Given the description of an element on the screen output the (x, y) to click on. 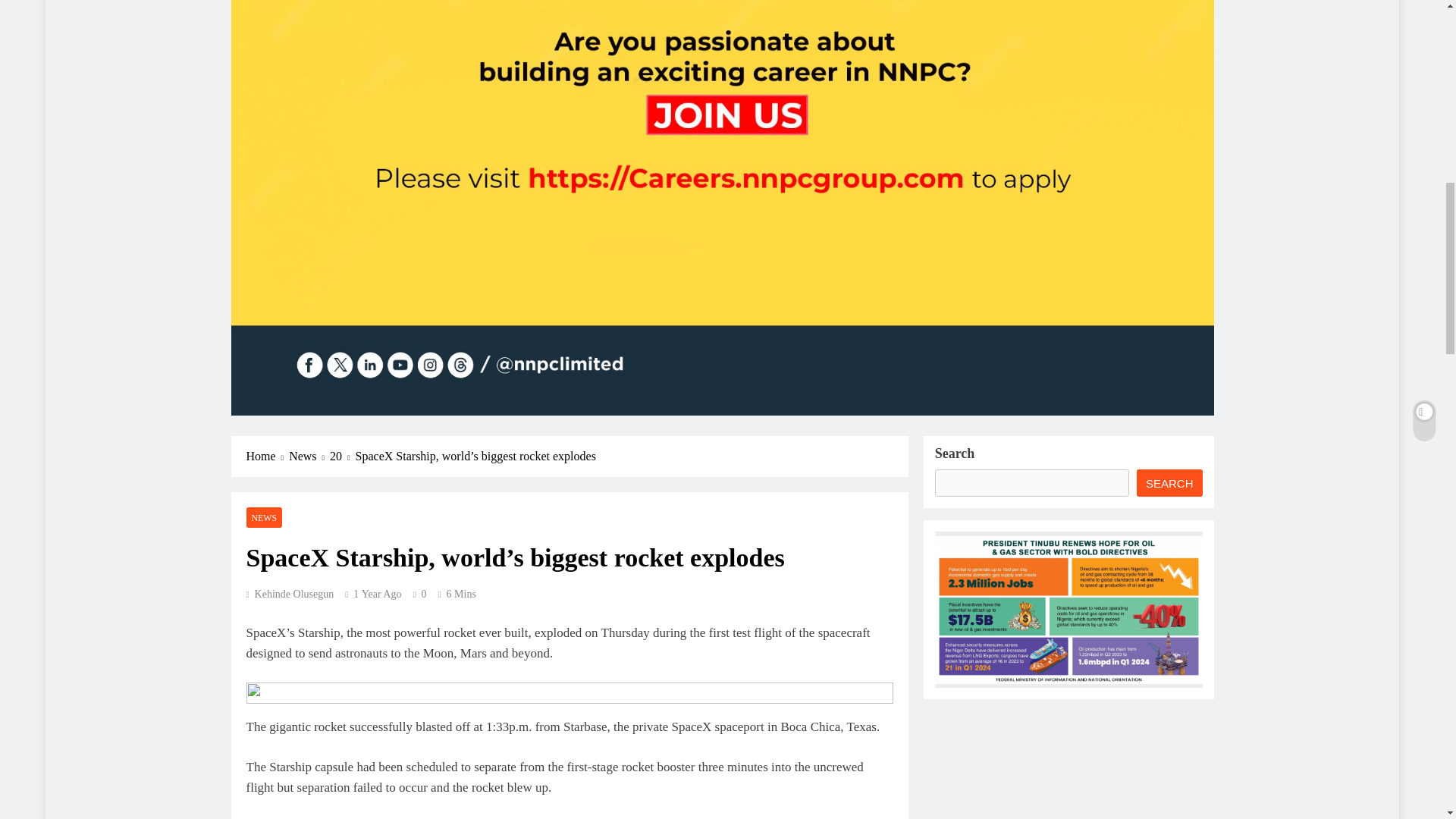
Home (267, 456)
Kehinde Olusegun (289, 593)
News (309, 456)
20 (342, 456)
NEWS (264, 516)
1 Year Ago (377, 593)
